Given the description of an element on the screen output the (x, y) to click on. 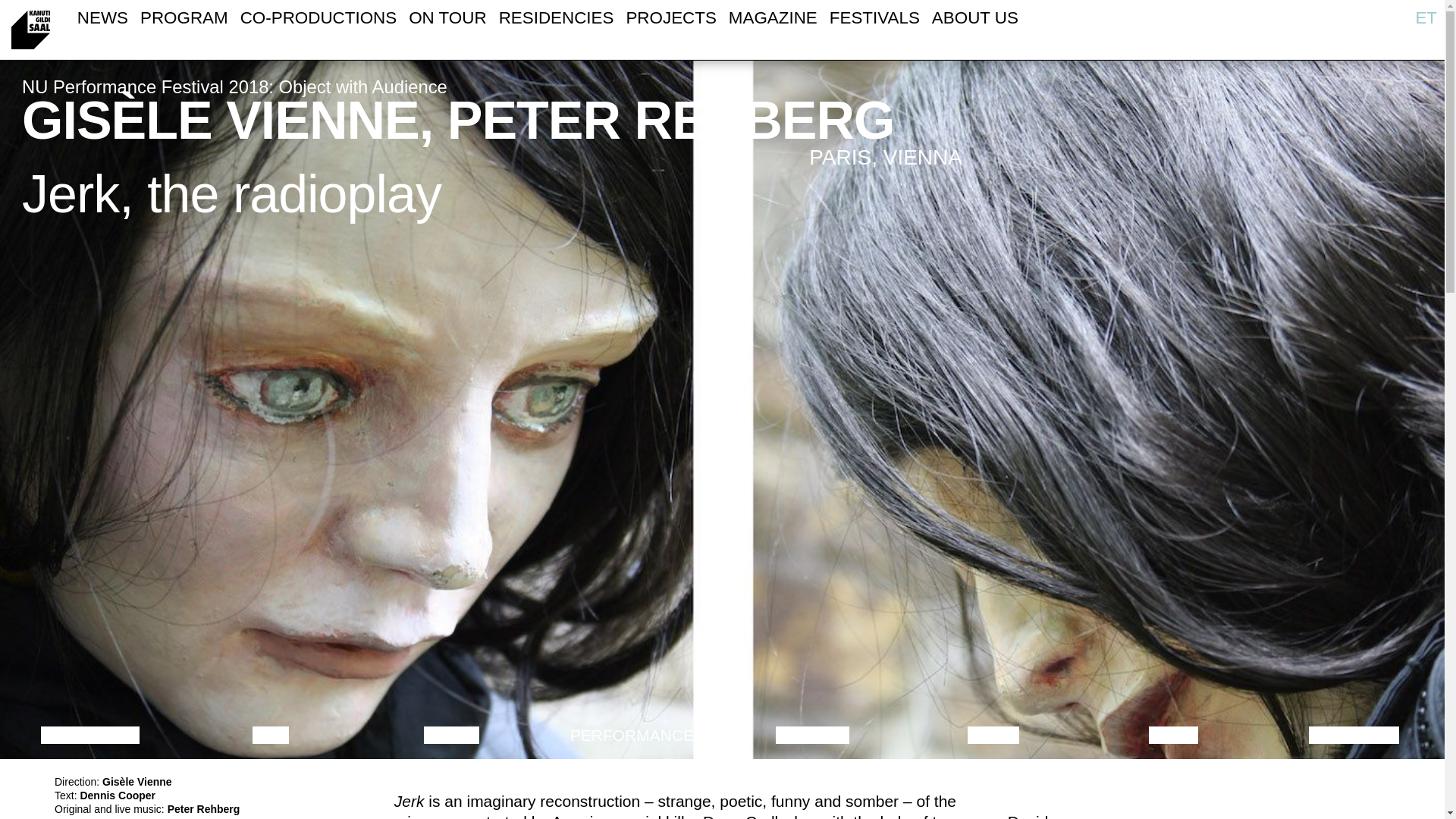
DANCE (451, 734)
RESIDENCIES (556, 19)
THEATRE (812, 734)
DISCUSSION (89, 734)
ON TOUR (447, 19)
MAGAZINE (772, 19)
CO-PRODUCTIONS (318, 19)
PROJECTS (671, 19)
EXHIBITION (1353, 734)
ABOUT US (974, 19)
FESTIVALS (874, 19)
PROGRAM (183, 19)
PERFORMANCE (632, 734)
VIDEO (1173, 734)
FILM (269, 734)
